Given the description of an element on the screen output the (x, y) to click on. 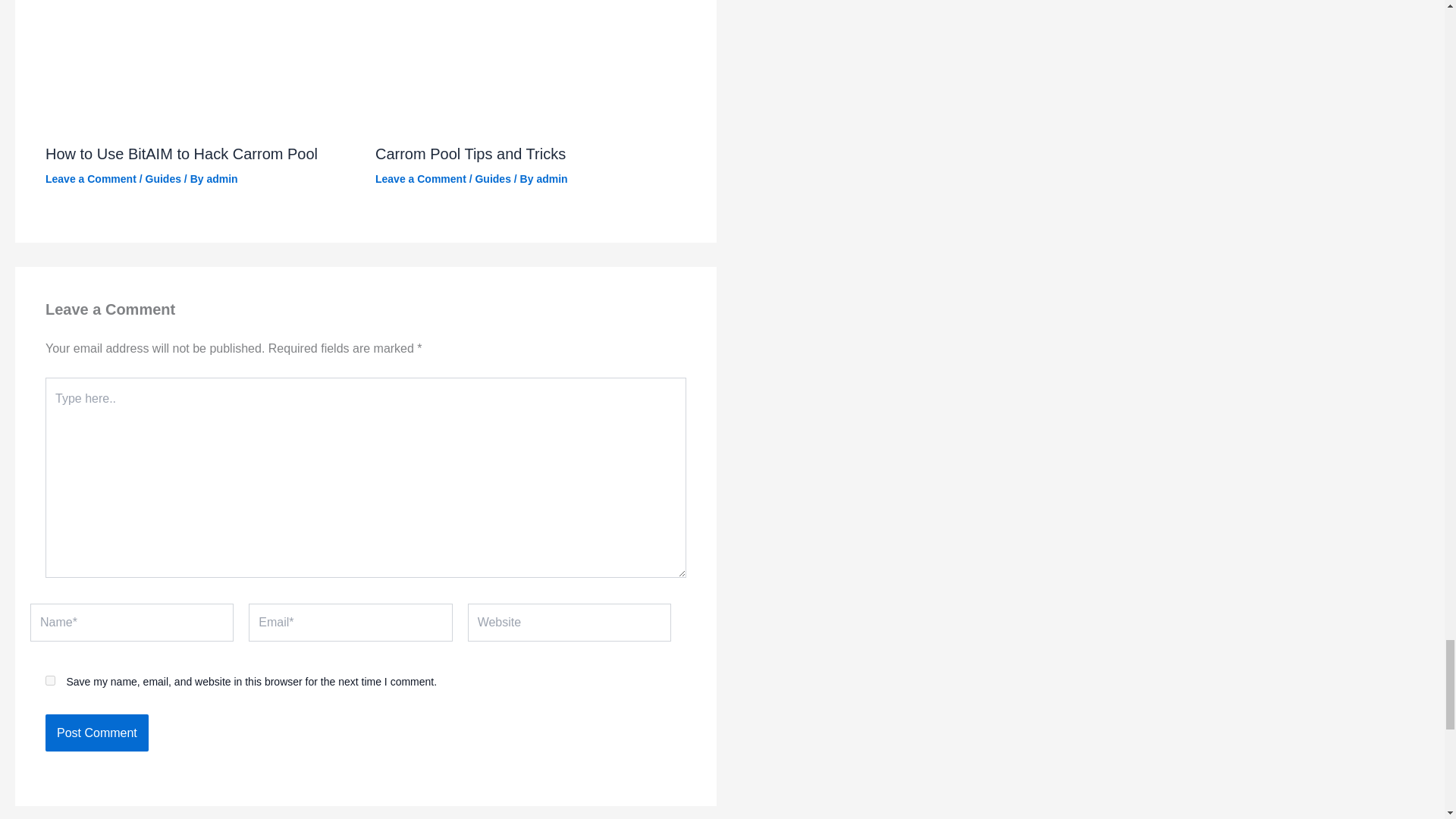
How to Use BitAIM to Hack Carrom Pool (181, 153)
Guides (492, 178)
Post Comment (96, 733)
View all posts by admin (551, 178)
View all posts by admin (221, 178)
Guides (162, 178)
admin (221, 178)
Carrom Pool Tips and Tricks (470, 153)
admin (551, 178)
Leave a Comment (420, 178)
